Given the description of an element on the screen output the (x, y) to click on. 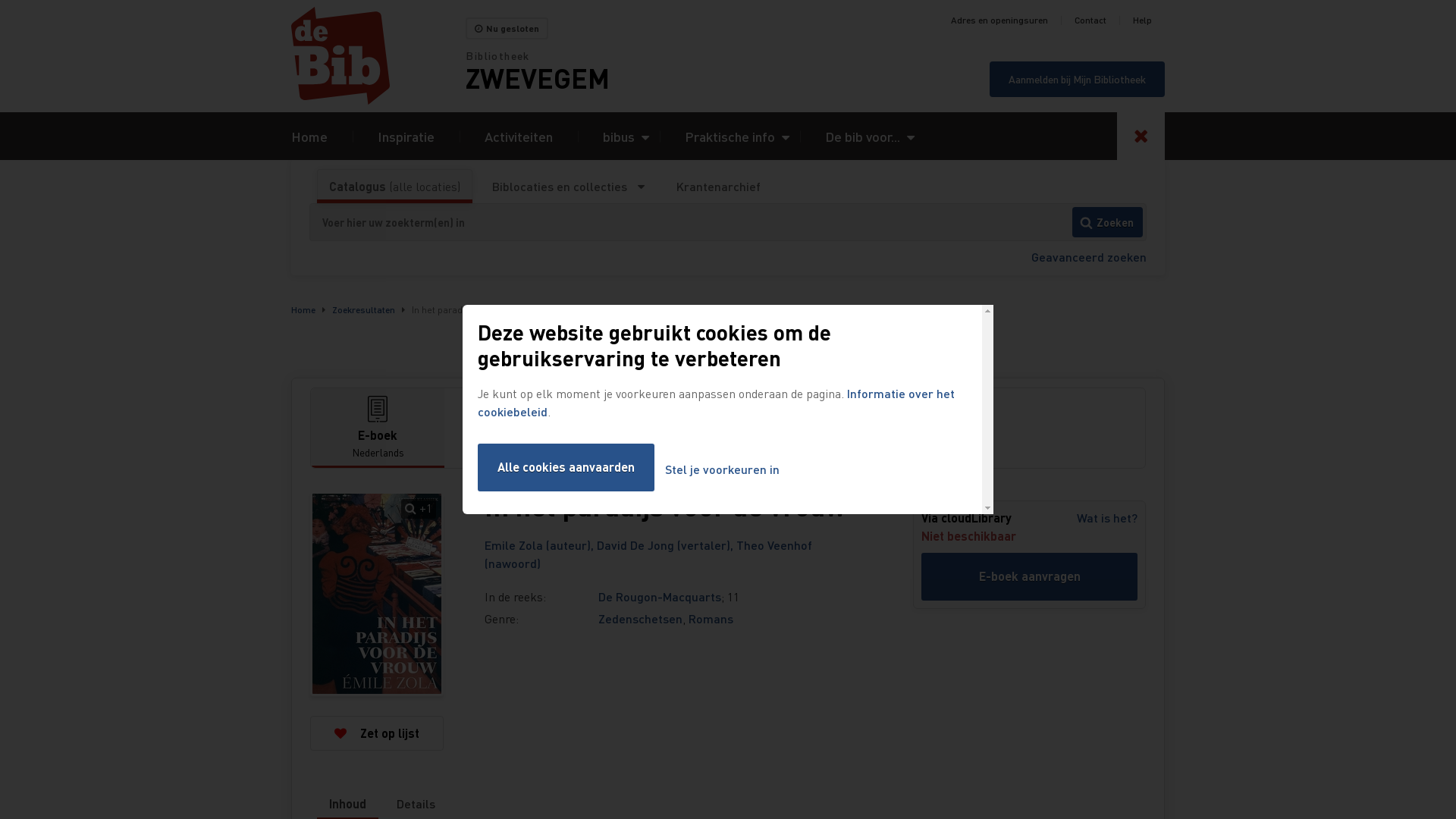
Catalogus (alle locaties) Element type: text (394, 186)
Stel je voorkeuren in Element type: text (722, 469)
Zoekresultaten Element type: text (363, 309)
Zedenschetsen Element type: text (640, 618)
Help Element type: text (1141, 20)
Emile Zola (auteur), Element type: text (540, 544)
Home Element type: hover (378, 55)
Biblocaties en collecties Element type: text (567, 186)
Alle cookies aanvaarden Element type: text (565, 466)
Overslaan en naar zoeken gaan Element type: text (0, 0)
Aanmelden bij Mijn Bibliotheek Element type: text (1076, 79)
Zet op lijst Element type: text (376, 732)
Theo Veenhof (nawoord) Element type: text (648, 553)
Home Element type: text (303, 309)
Geavanceerd zoeken Element type: text (1088, 256)
Contact Element type: text (1090, 20)
Informatie over het cookiebeleid Element type: text (715, 402)
Inspiratie Element type: text (405, 136)
Adres en openingsuren Element type: text (999, 20)
De Rougon-Macquarts Element type: text (659, 596)
Wat is het? Element type: text (1106, 517)
Home Element type: text (309, 136)
Zoeken Element type: text (1107, 222)
Activiteiten Element type: text (518, 136)
Toggle search Element type: hover (1140, 136)
Krantenarchief Element type: text (718, 186)
E-boek aanvragen Element type: text (1029, 575)
David De Jong (vertaler), Element type: text (666, 544)
Nu gesloten Element type: text (506, 28)
Romans Element type: text (710, 618)
